Given the description of an element on the screen output the (x, y) to click on. 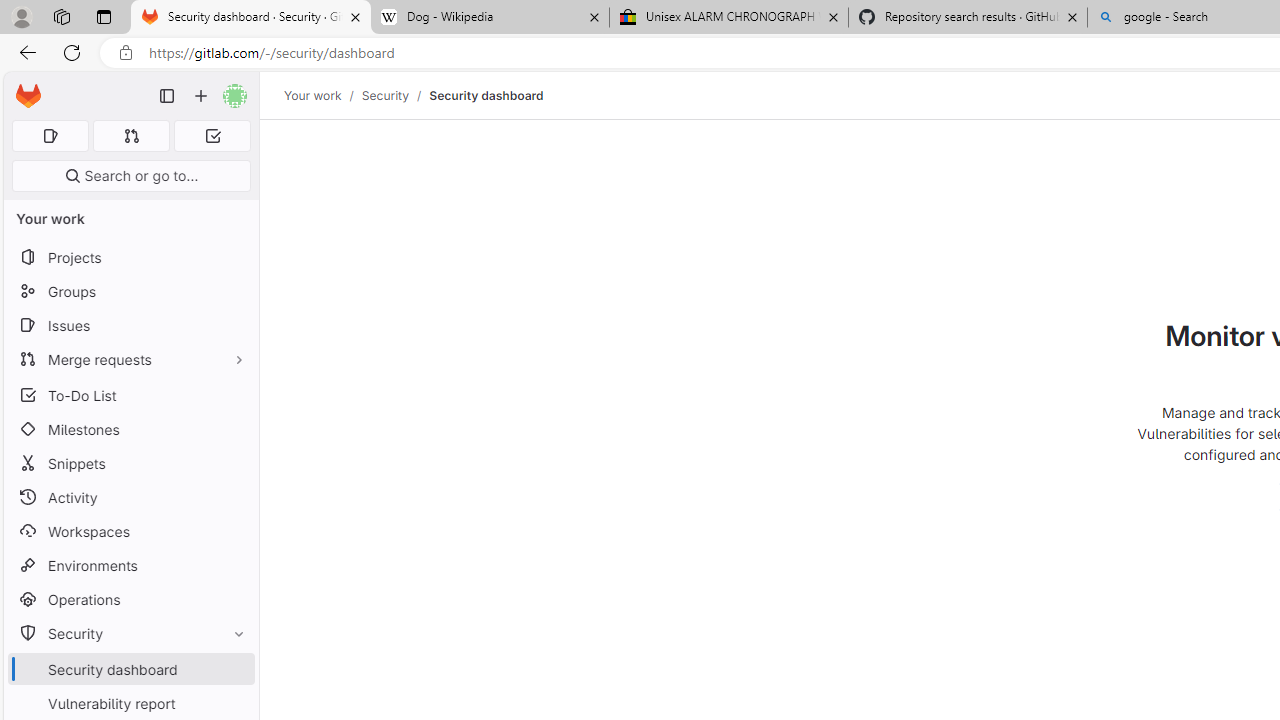
Security (384, 95)
Groups (130, 291)
Your work (312, 95)
To-Do List (130, 394)
Snippets (130, 463)
Milestones (130, 429)
Merge requests 0 (131, 136)
Security/ (395, 95)
Activity (130, 497)
Groups (130, 291)
Create new... (201, 96)
